Given the description of an element on the screen output the (x, y) to click on. 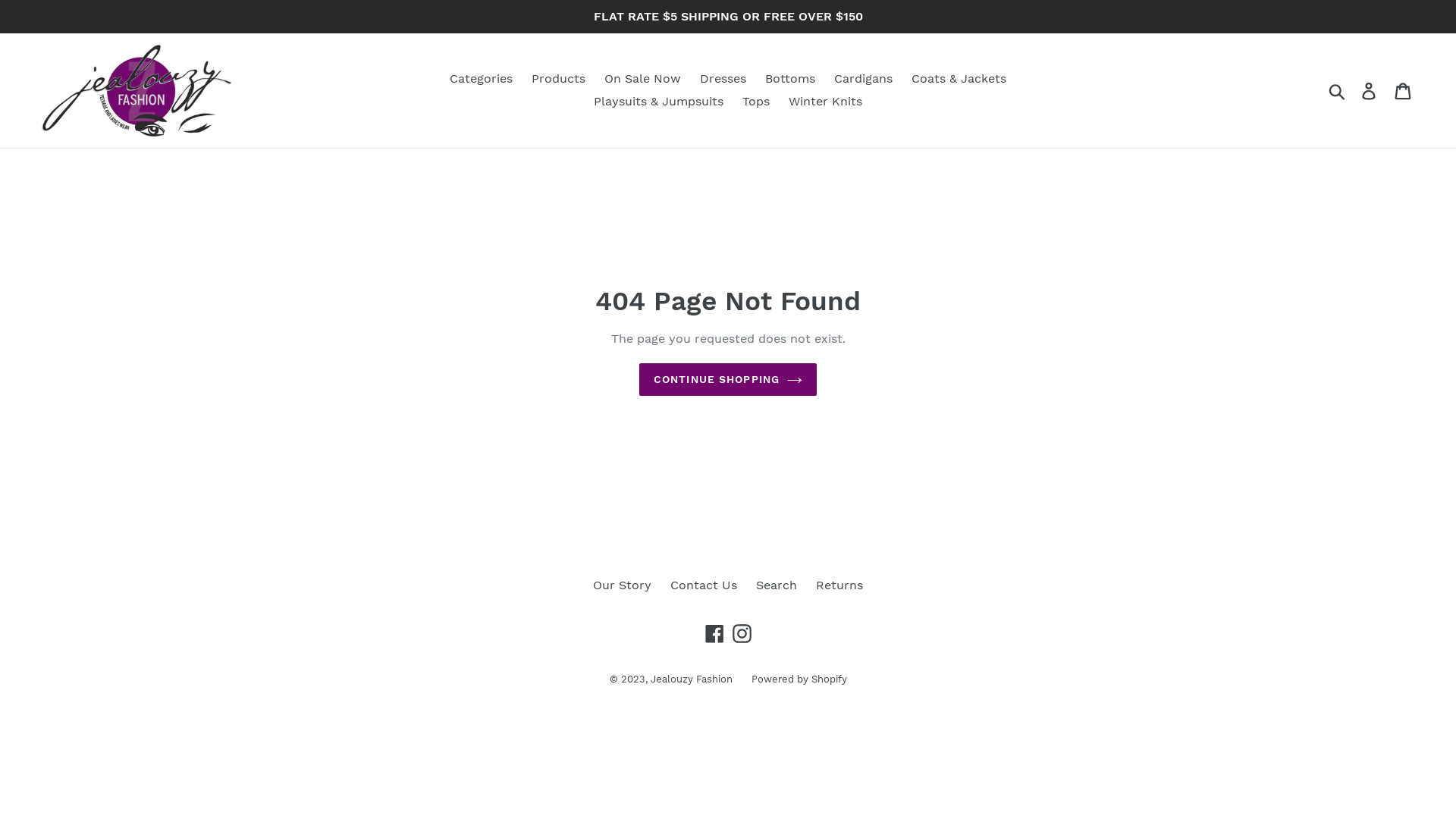
CONTINUE SHOPPING Element type: text (727, 379)
Powered by Shopify Element type: text (798, 678)
Search Element type: text (776, 584)
Our Story Element type: text (622, 584)
Contact Us Element type: text (703, 584)
Tops Element type: text (755, 101)
Returns Element type: text (838, 584)
Products Element type: text (558, 78)
Facebook Element type: text (713, 633)
Playsuits & Jumpsuits Element type: text (658, 101)
Coats & Jackets Element type: text (958, 78)
Submit Element type: text (1337, 89)
Cardigans Element type: text (863, 78)
Cart Element type: text (1403, 90)
Winter Knits Element type: text (825, 101)
Categories Element type: text (481, 78)
Bottoms Element type: text (789, 78)
Dresses Element type: text (722, 78)
On Sale Now Element type: text (642, 78)
Log in Element type: text (1369, 90)
Jealouzy Fashion Element type: text (691, 678)
Instagram Element type: text (741, 633)
